Given the description of an element on the screen output the (x, y) to click on. 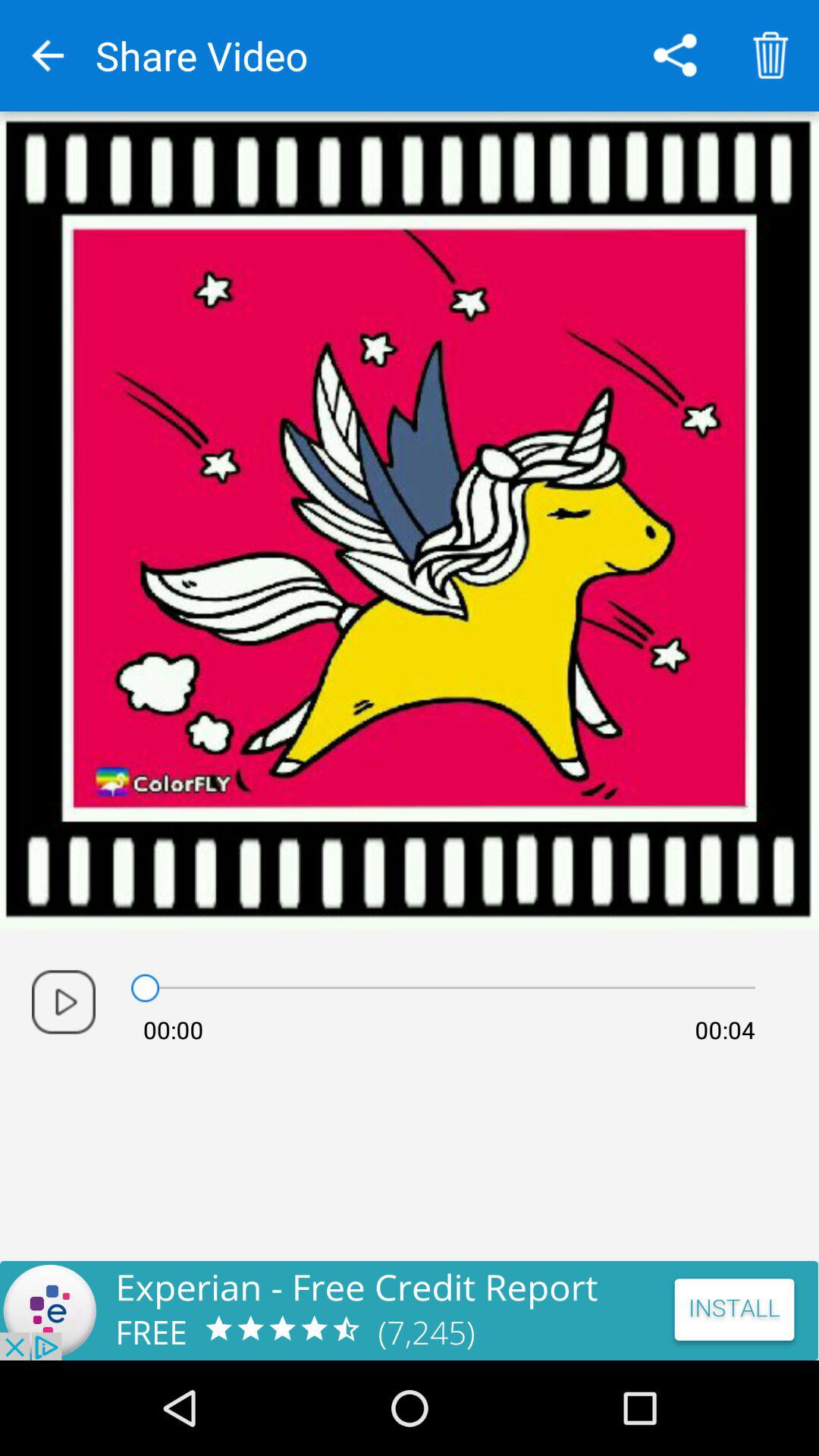
flashing add (409, 1310)
